Given the description of an element on the screen output the (x, y) to click on. 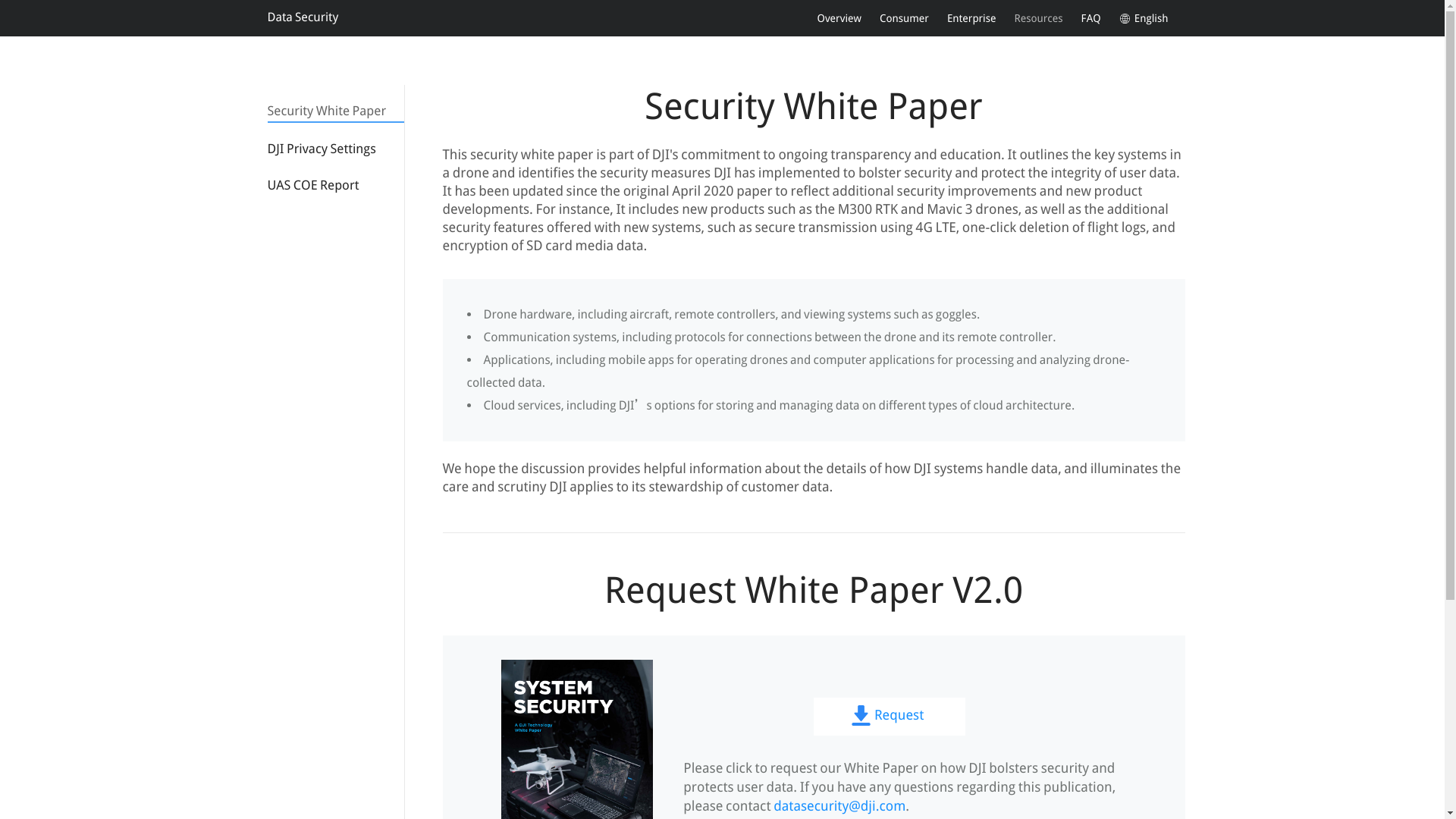
Enterprise (971, 18)
Resources (1037, 18)
Overview (839, 18)
  English (1143, 18)
Consumer (903, 18)
FAQ (1090, 18)
Data Security (301, 16)
